Given the description of an element on the screen output the (x, y) to click on. 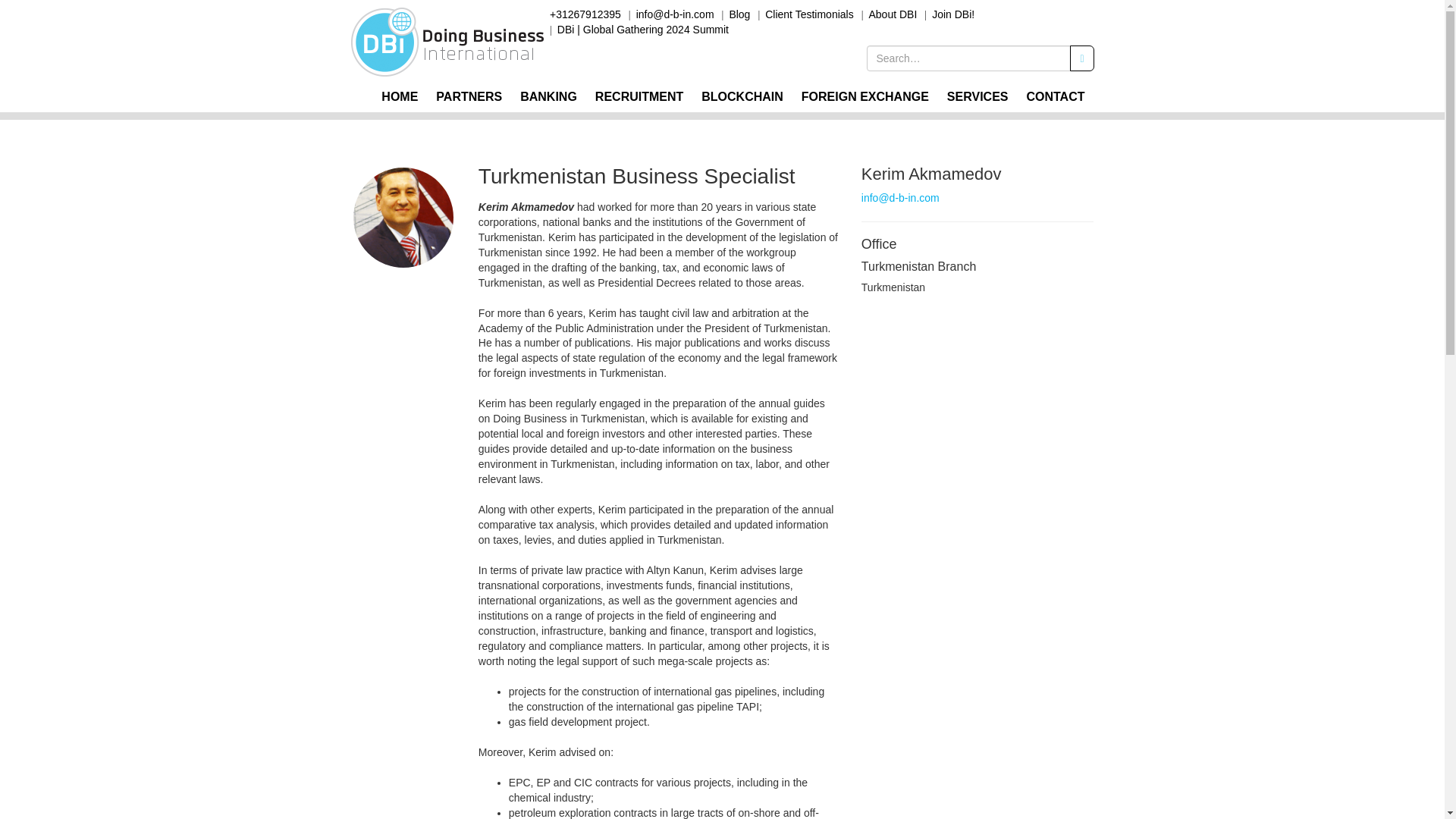
HOME (399, 97)
PARTNERS (468, 97)
Client Testimonials (809, 14)
Blog (739, 14)
Join DBi! (952, 14)
About DBI (893, 14)
Chatbot (1383, 758)
Doing Business International (446, 39)
